Given the description of an element on the screen output the (x, y) to click on. 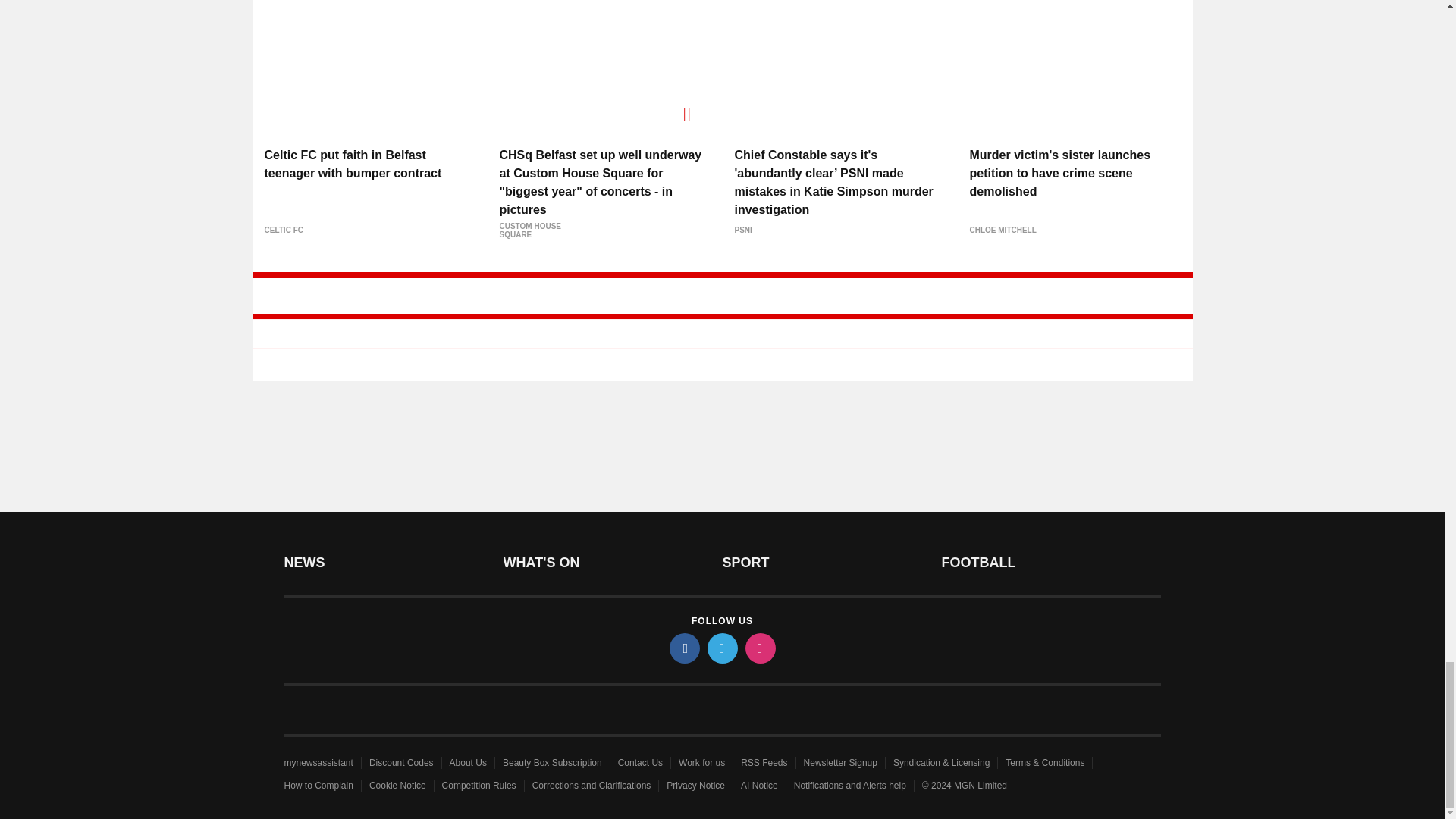
facebook (683, 648)
instagram (759, 648)
twitter (721, 648)
